Given the description of an element on the screen output the (x, y) to click on. 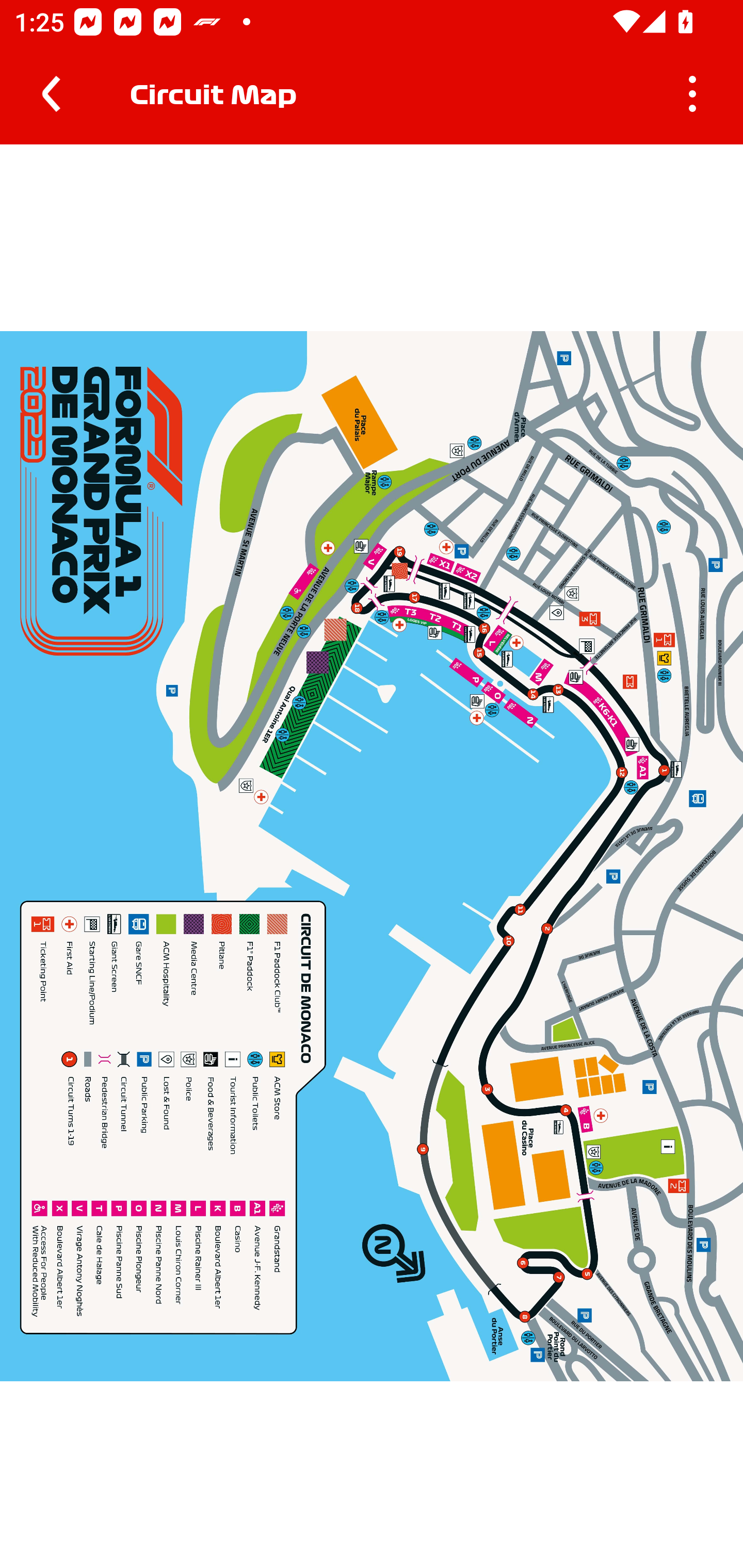
Navigate up (50, 93)
